Given the description of an element on the screen output the (x, y) to click on. 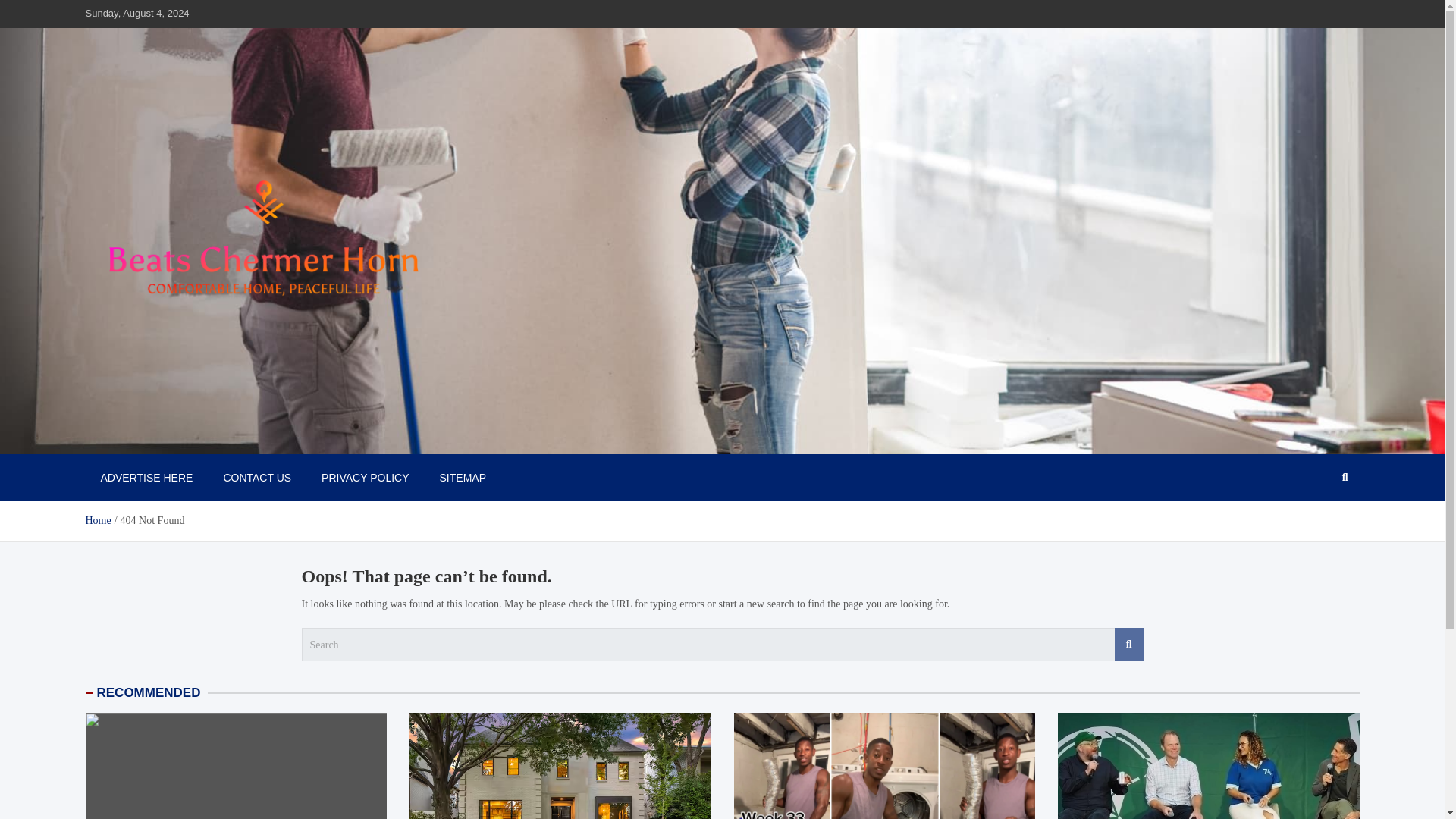
Beats Chermer Horn (193, 437)
SITEMAP (462, 477)
ADVERTISE HERE (146, 477)
PRIVACY POLICY (364, 477)
CONTACT US (256, 477)
Home (97, 520)
RECOMMENDED (148, 692)
